Given the description of an element on the screen output the (x, y) to click on. 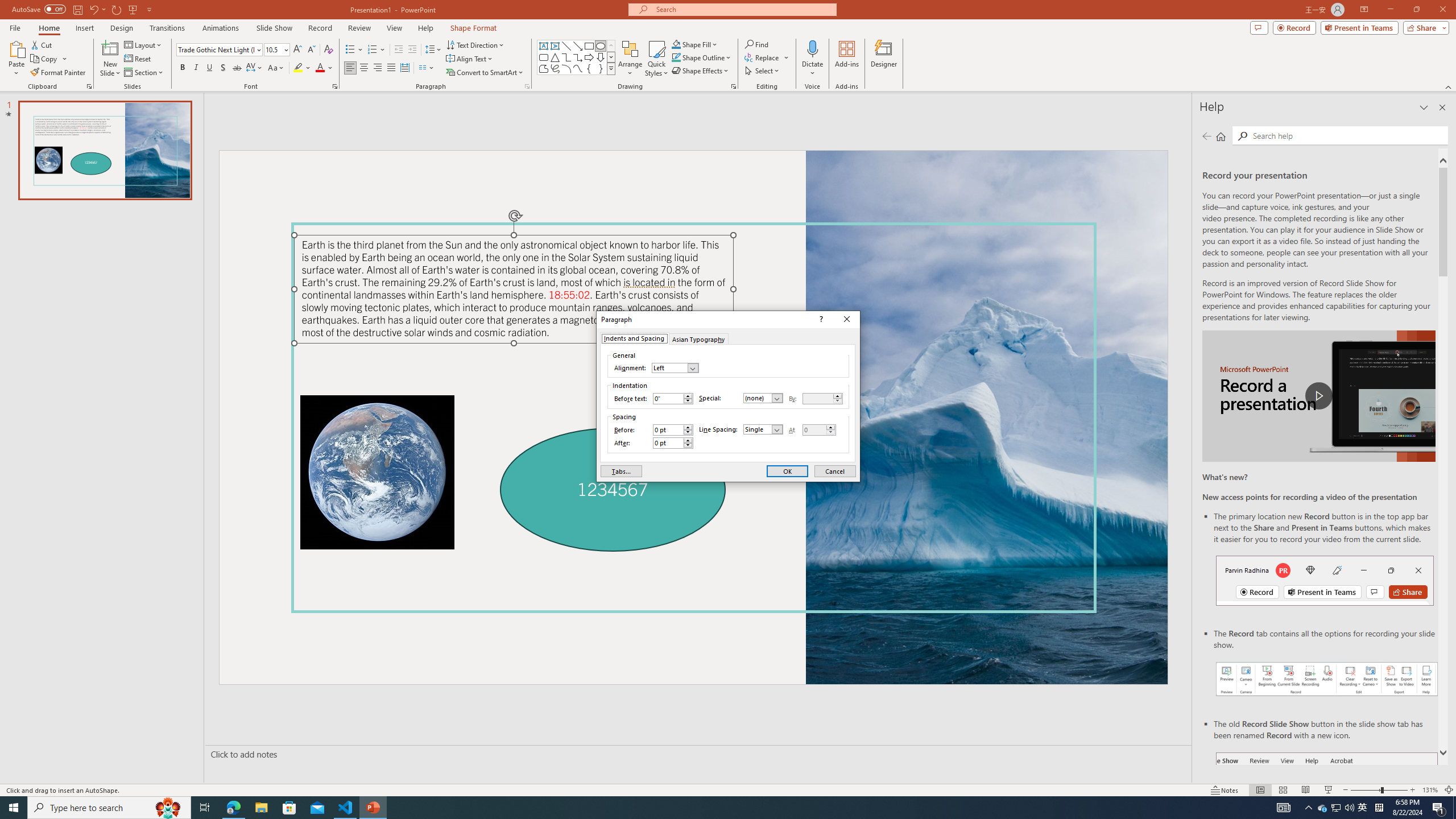
Before (672, 429)
Context help (820, 319)
Special (763, 397)
Record button in top bar (1324, 580)
